Given the description of an element on the screen output the (x, y) to click on. 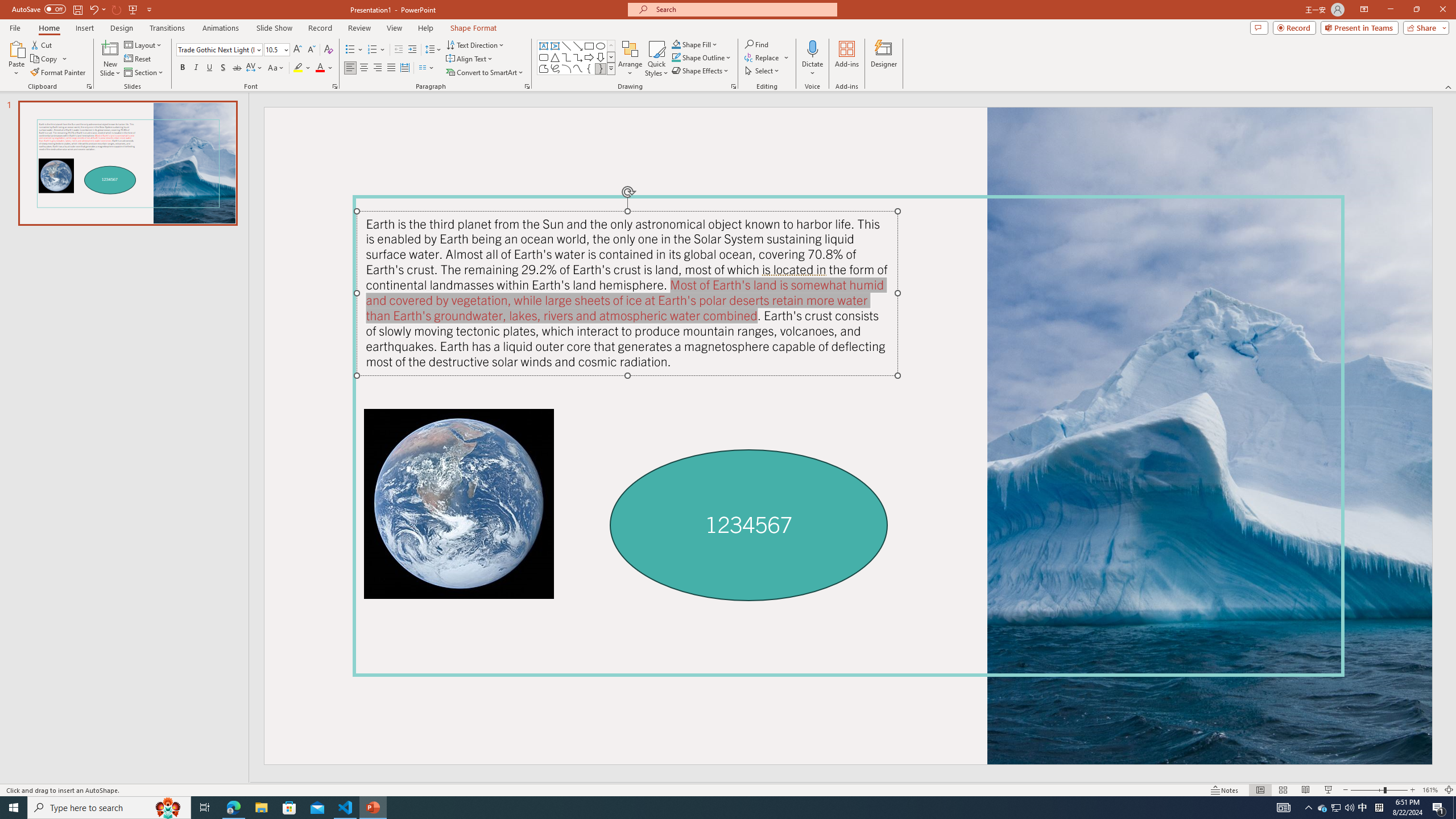
Layout (143, 44)
Increase Indent (412, 49)
Align Right (377, 67)
Arc (566, 68)
Isosceles Triangle (554, 57)
Align Text (470, 58)
